Given the description of an element on the screen output the (x, y) to click on. 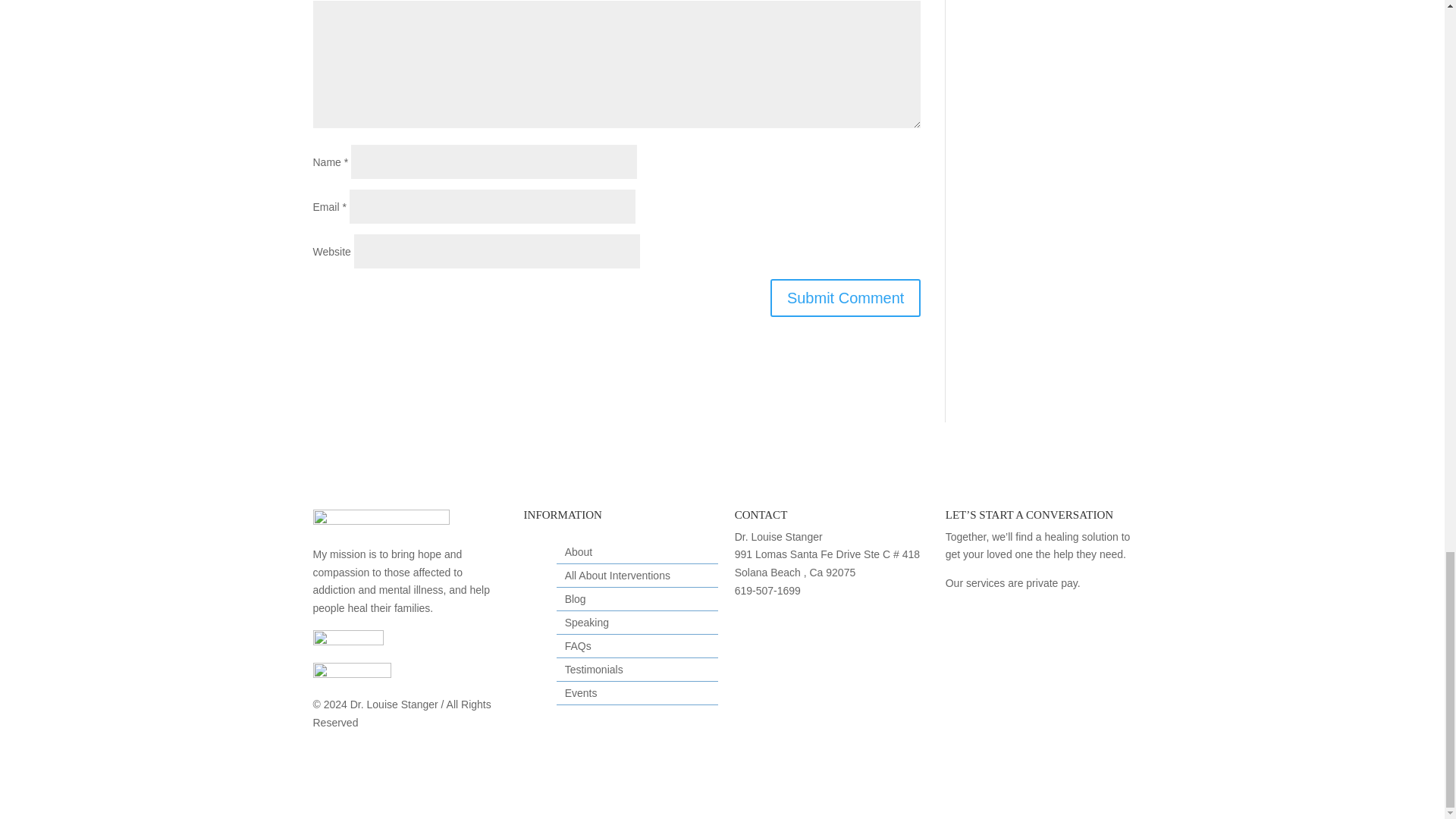
Events (580, 695)
Submit Comment (845, 297)
Testimonials (593, 672)
Submit Comment (845, 297)
Speaking (586, 625)
All About Interventions (616, 578)
FAQs (577, 648)
Follow on Facebook (746, 624)
About (578, 555)
Blog (575, 601)
